Given the description of an element on the screen output the (x, y) to click on. 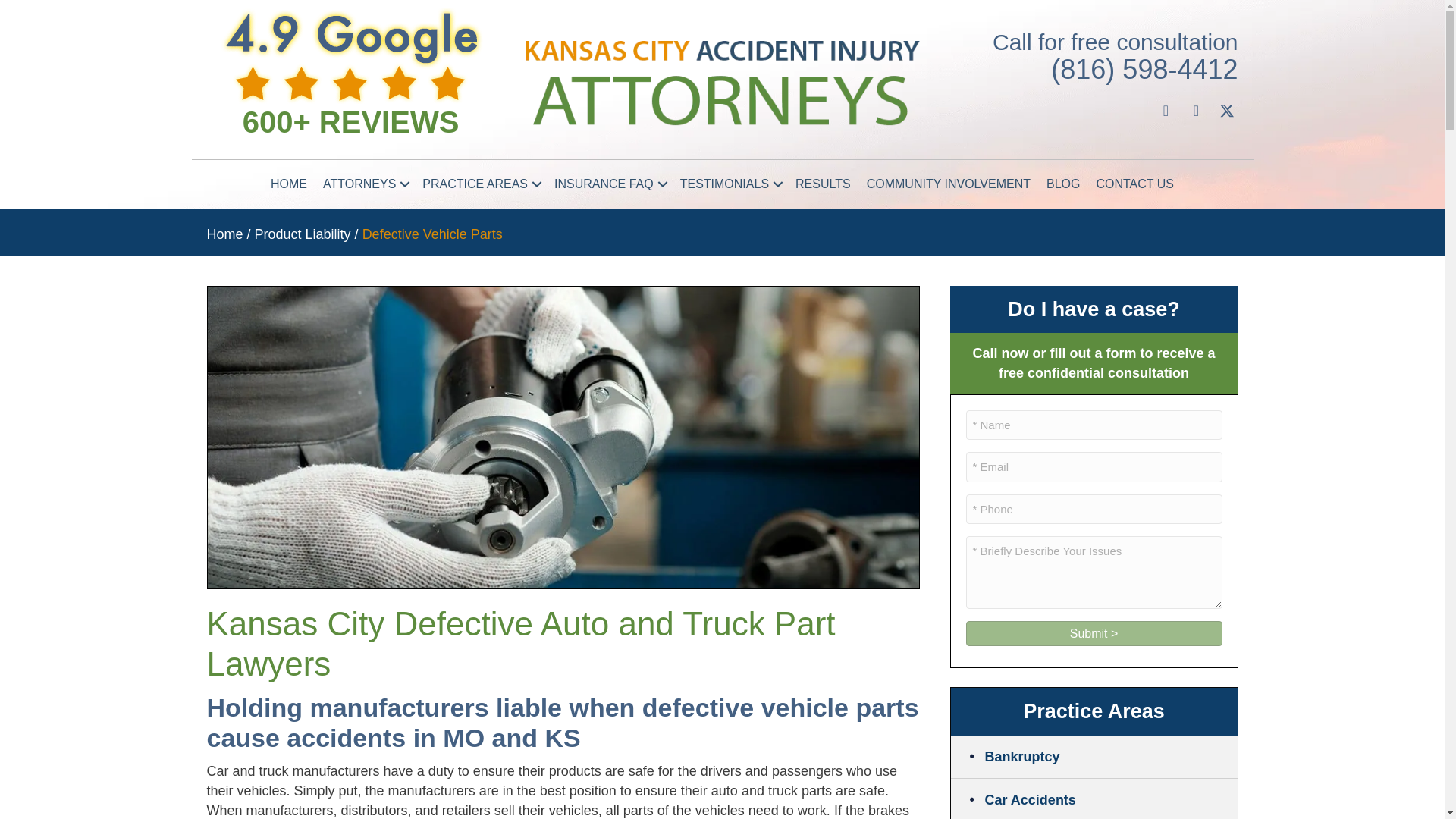
HOME (288, 183)
INSURANCE FAQ (609, 183)
Kansas City Accident Injury Attorneys (721, 82)
YouTube (1196, 110)
PRACTICE AREAS (480, 183)
ATTORNEYS (364, 183)
Facebook (1165, 110)
